Given the description of an element on the screen output the (x, y) to click on. 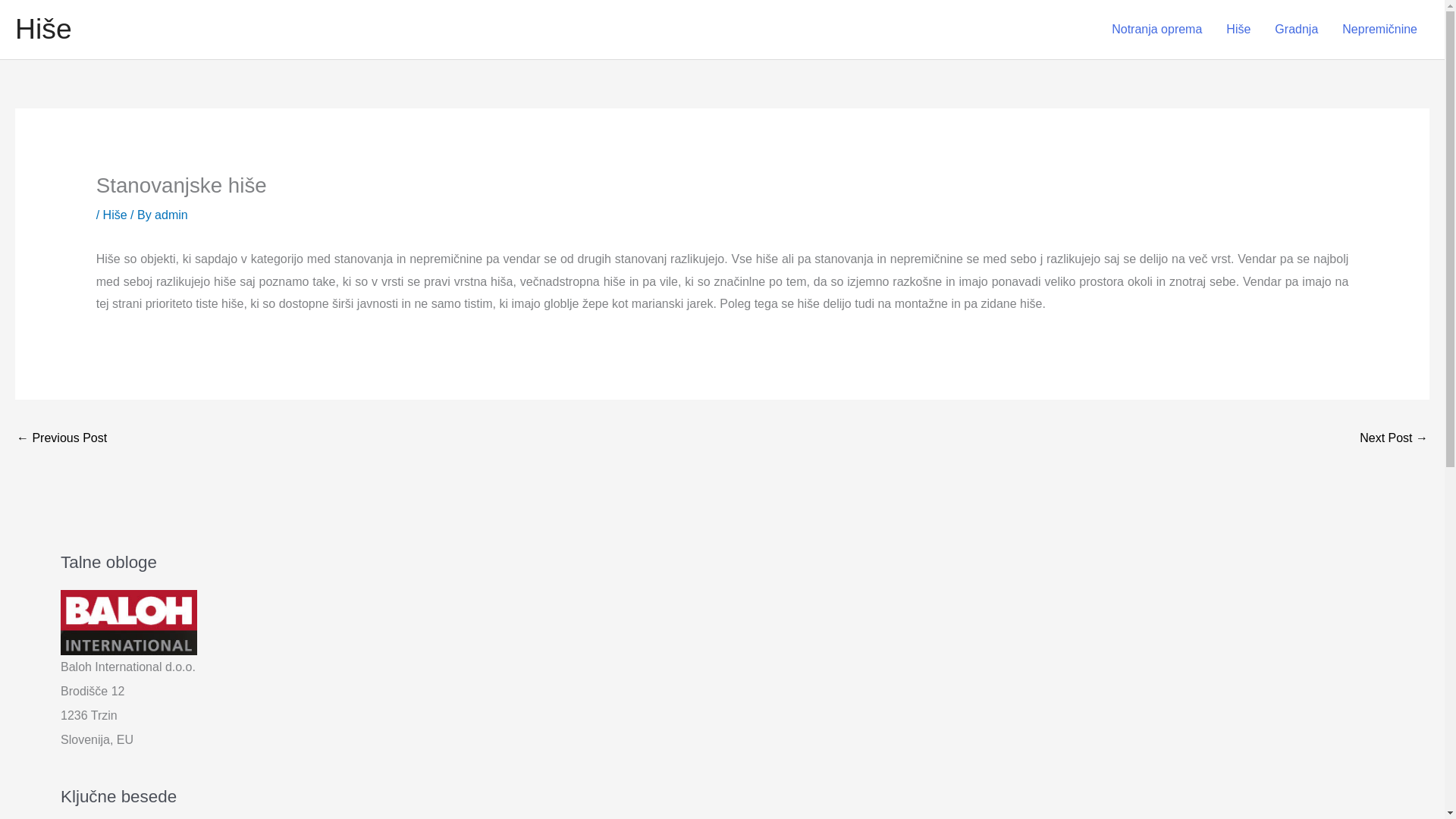
admin (170, 214)
Gradnja (1296, 29)
Notranja oprema (1156, 29)
View all posts by admin (170, 214)
